Given the description of an element on the screen output the (x, y) to click on. 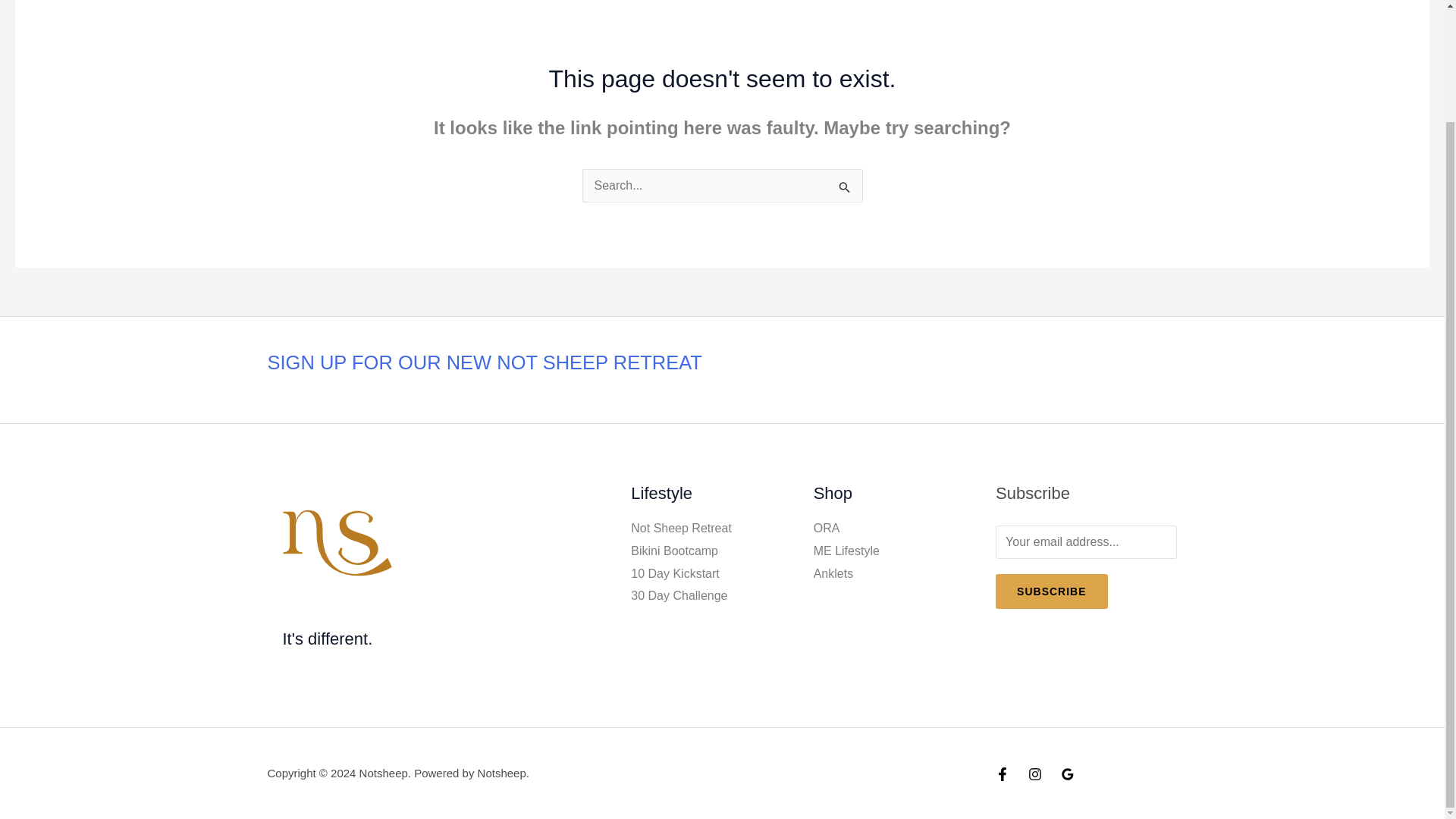
Bikini Bootcamp (673, 550)
SIGN UP FOR OUR NEW NOT SHEEP RETREAT (483, 362)
Not Sheep Retreat (681, 527)
